Given the description of an element on the screen output the (x, y) to click on. 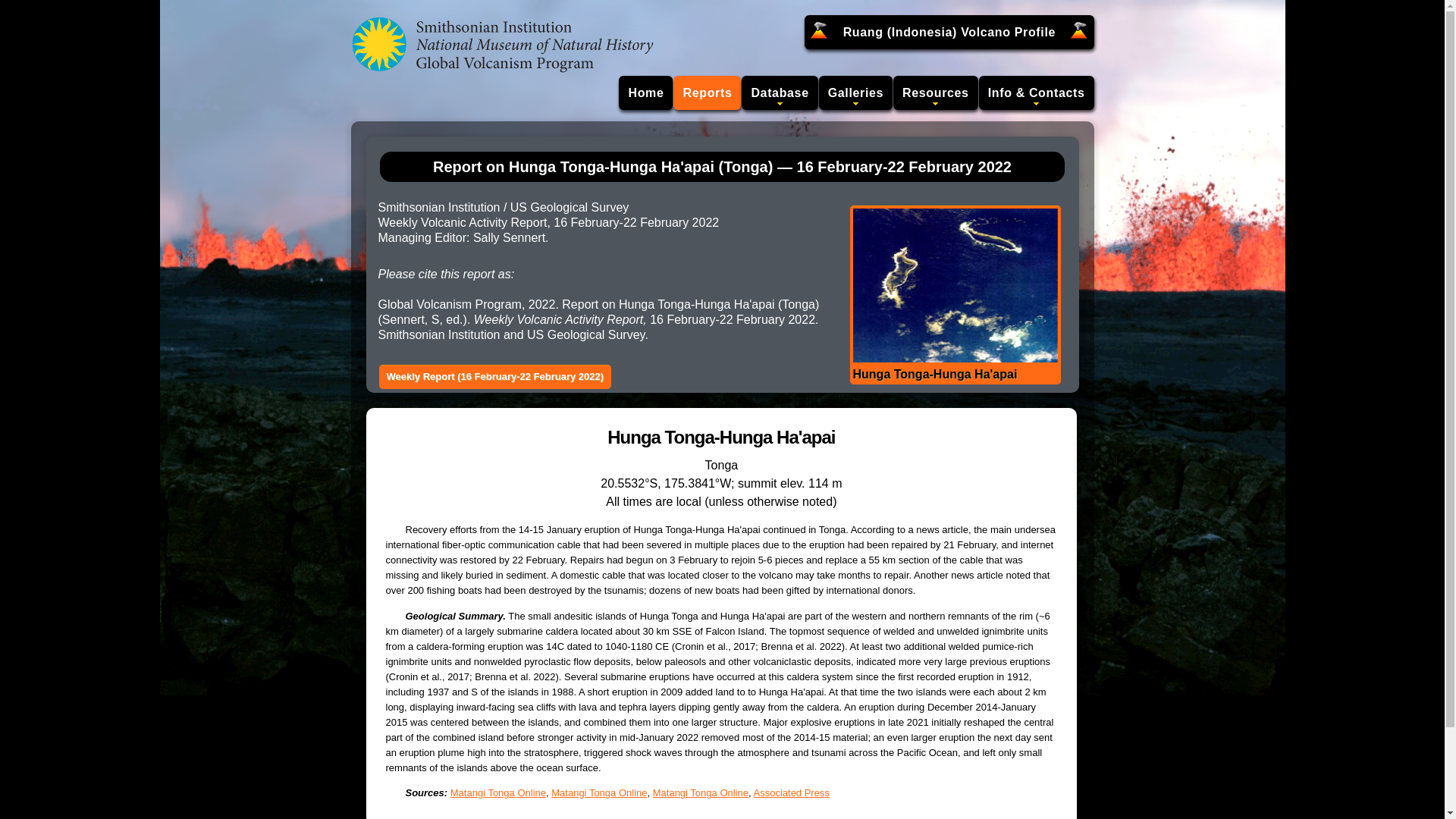
Reports (706, 92)
Galleries (855, 92)
Resources (935, 92)
Database (778, 92)
Home (645, 92)
Hunga Tonga-Hunga Ha'apai (954, 294)
Matangi Tonga Online (497, 792)
Matangi Tonga Online (598, 792)
